Given the description of an element on the screen output the (x, y) to click on. 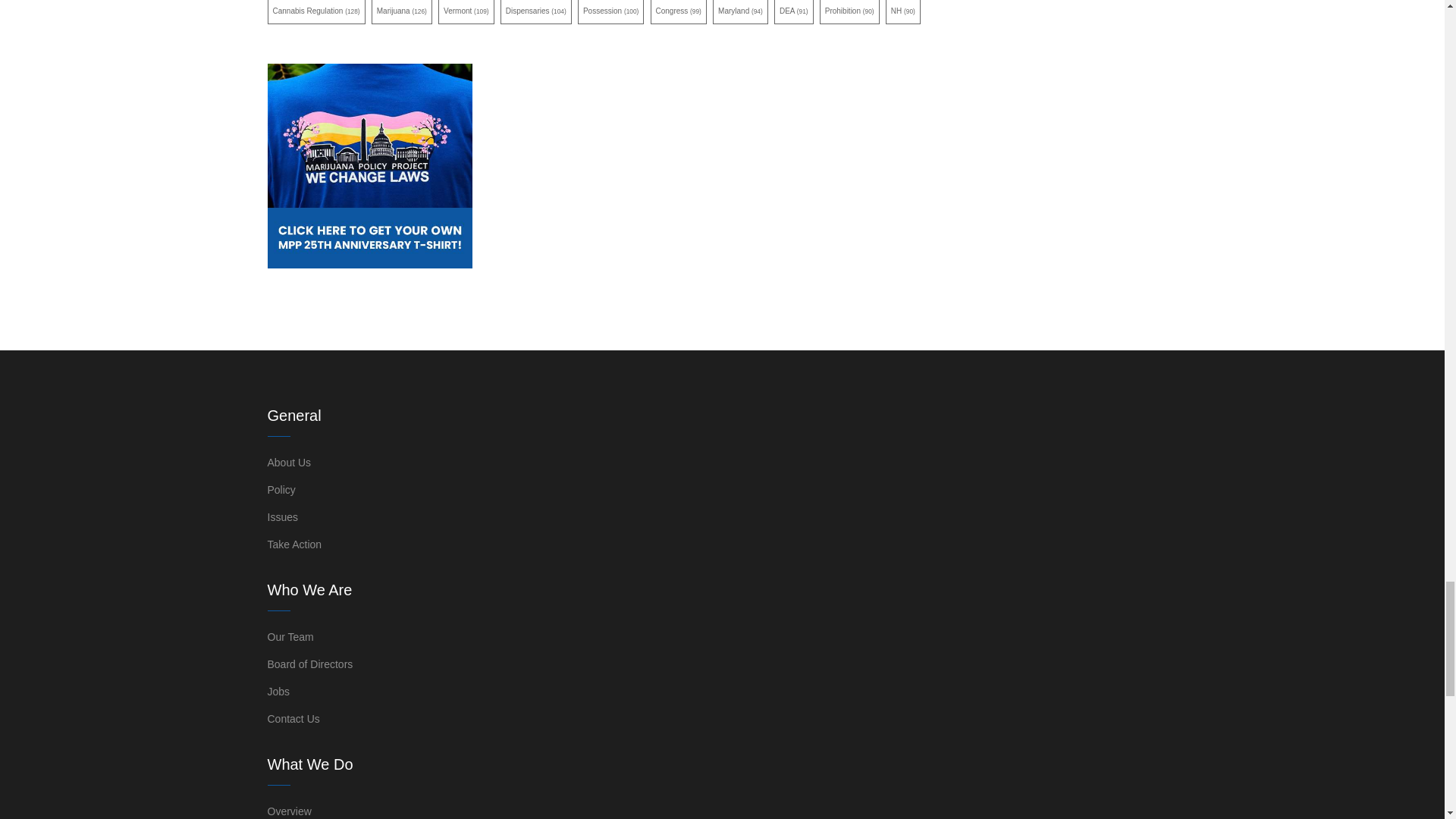
dispensaries (536, 12)
cannabis regulation (315, 12)
Vermont (465, 12)
marijuana (401, 12)
